Given the description of an element on the screen output the (x, y) to click on. 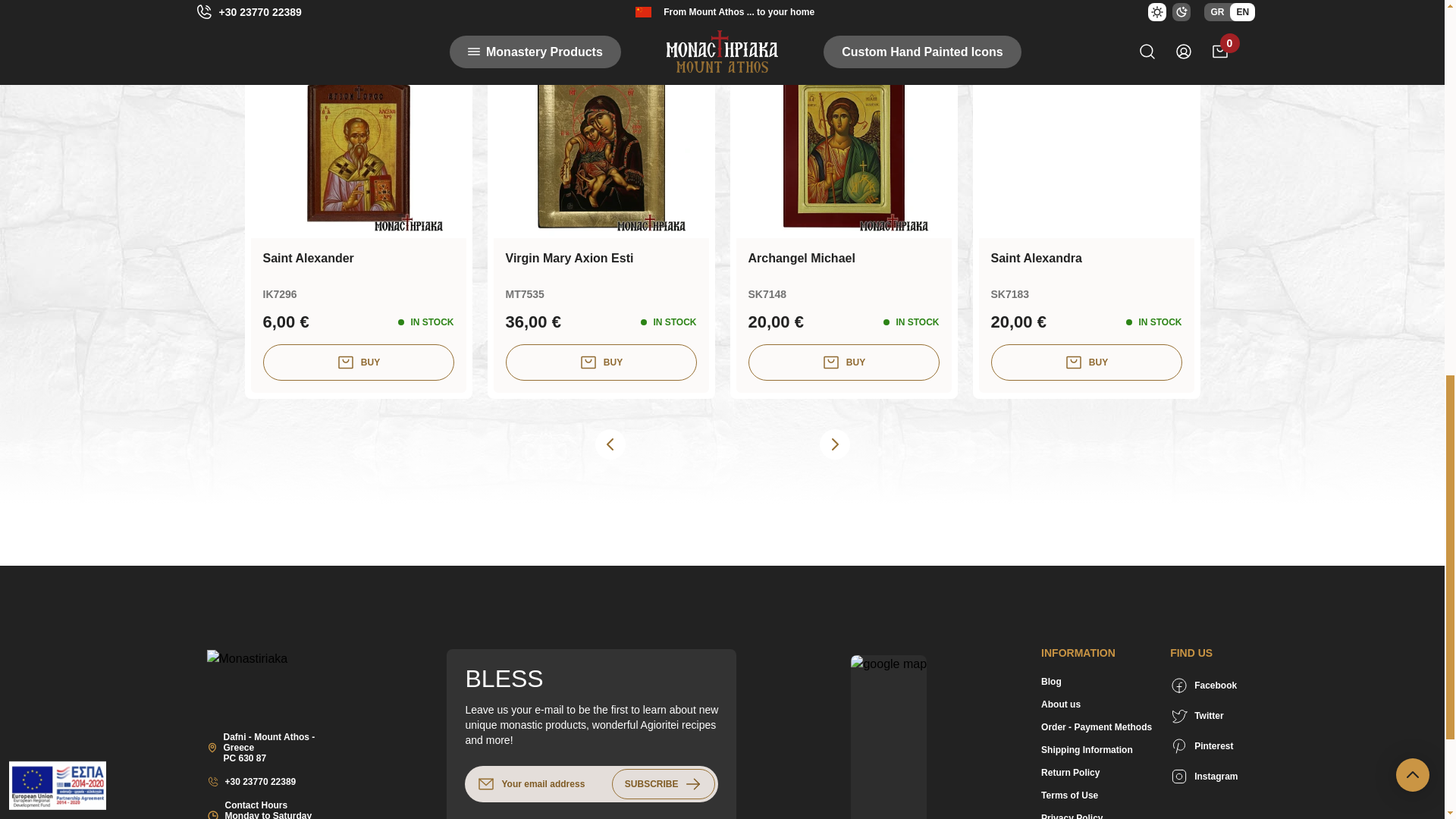
BUY (357, 361)
Archangel Michael (843, 258)
Virgin Mary Axion Esti (600, 258)
BUY (843, 361)
Saint Alexander (357, 258)
BUY (600, 361)
